Given the description of an element on the screen output the (x, y) to click on. 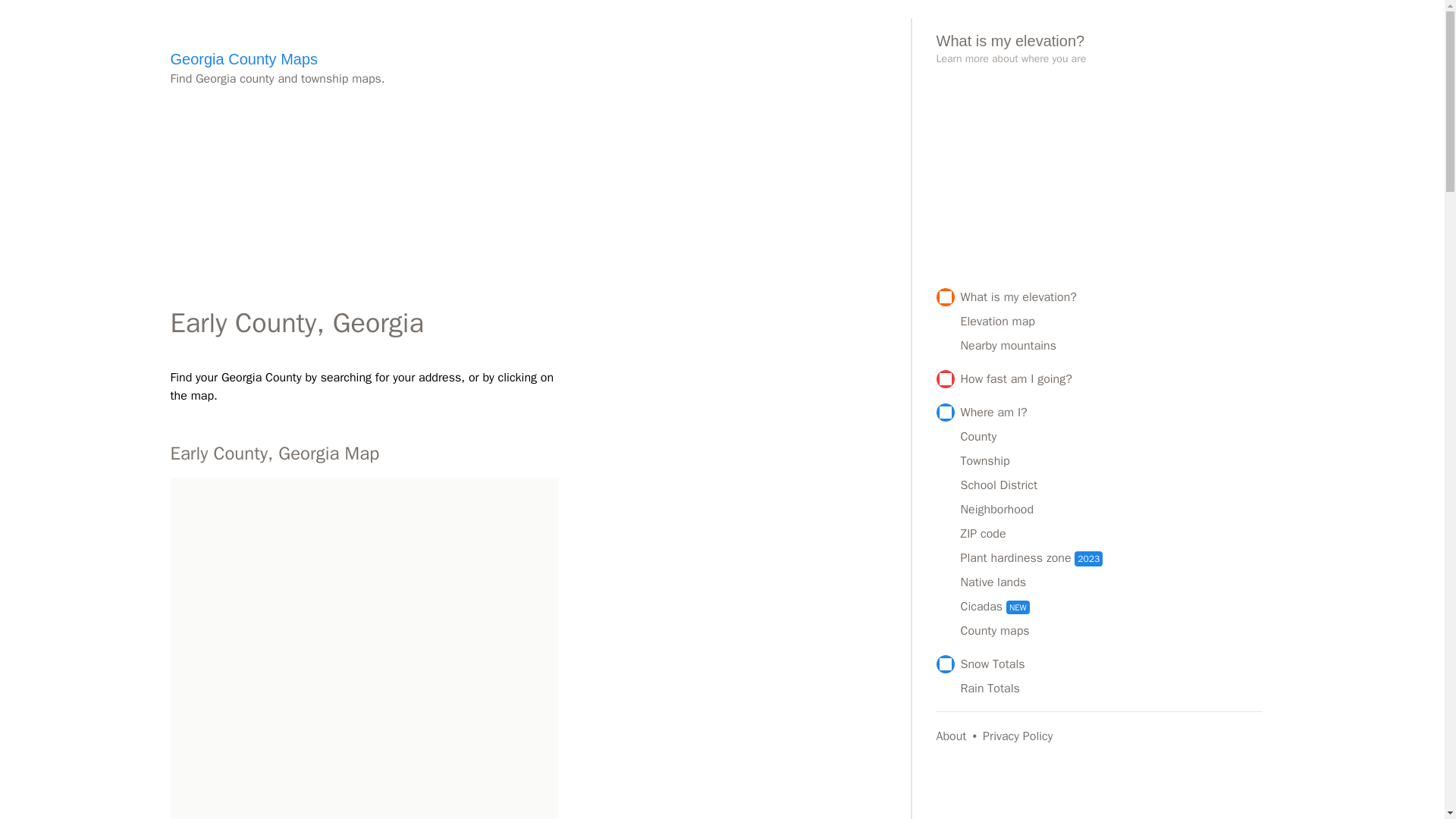
Native lands (1111, 582)
Elevation map (1111, 321)
ZIP code (1111, 533)
Privacy Policy (1017, 736)
Rain Totals (1111, 688)
School District (1111, 484)
Township (1111, 461)
Plant hardiness zone 2023 (1111, 557)
Georgia County Maps (243, 58)
Cicadas NEW (1111, 606)
